Given the description of an element on the screen output the (x, y) to click on. 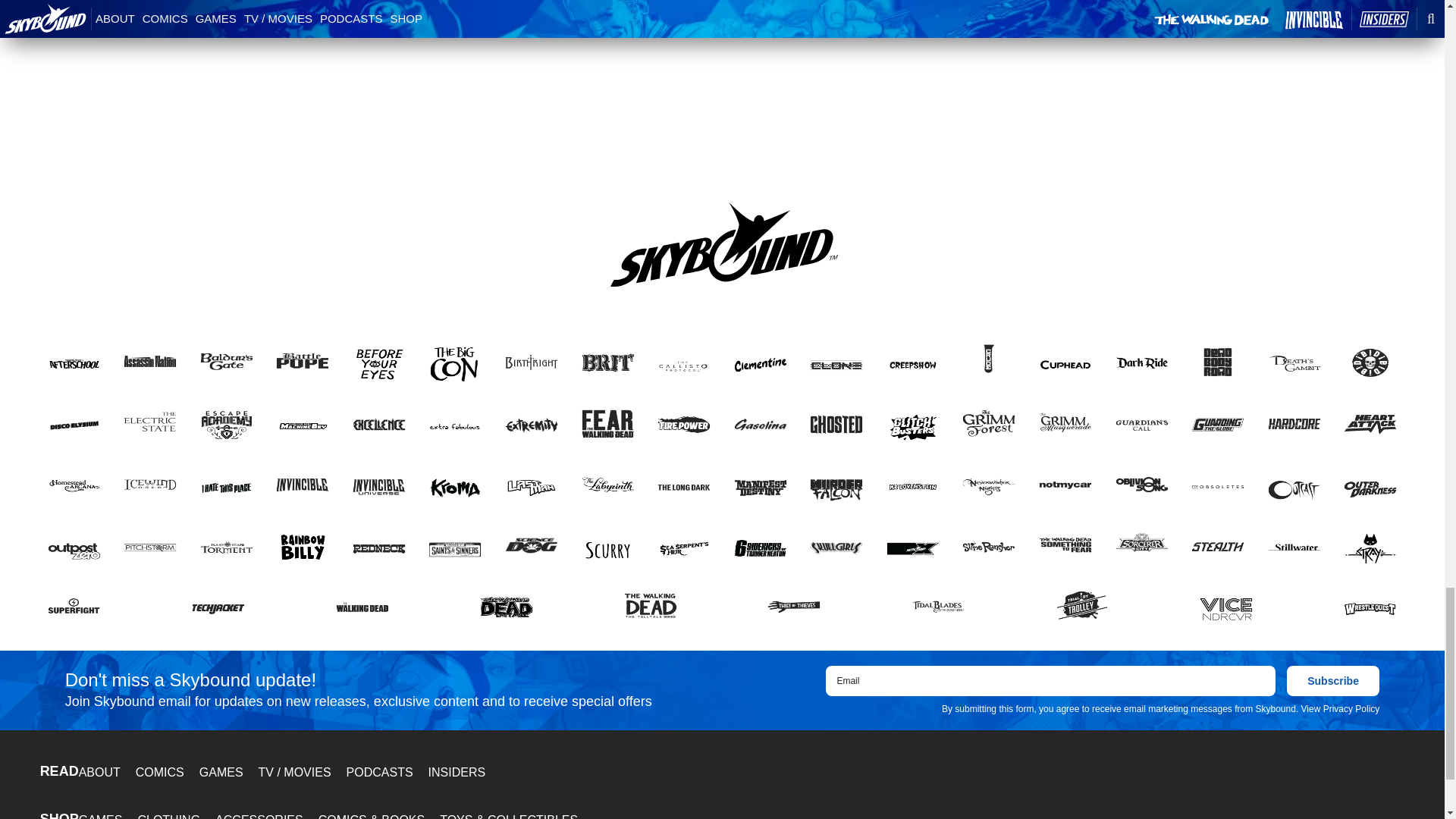
skybound-black-262626 (724, 243)
